Given the description of an element on the screen output the (x, y) to click on. 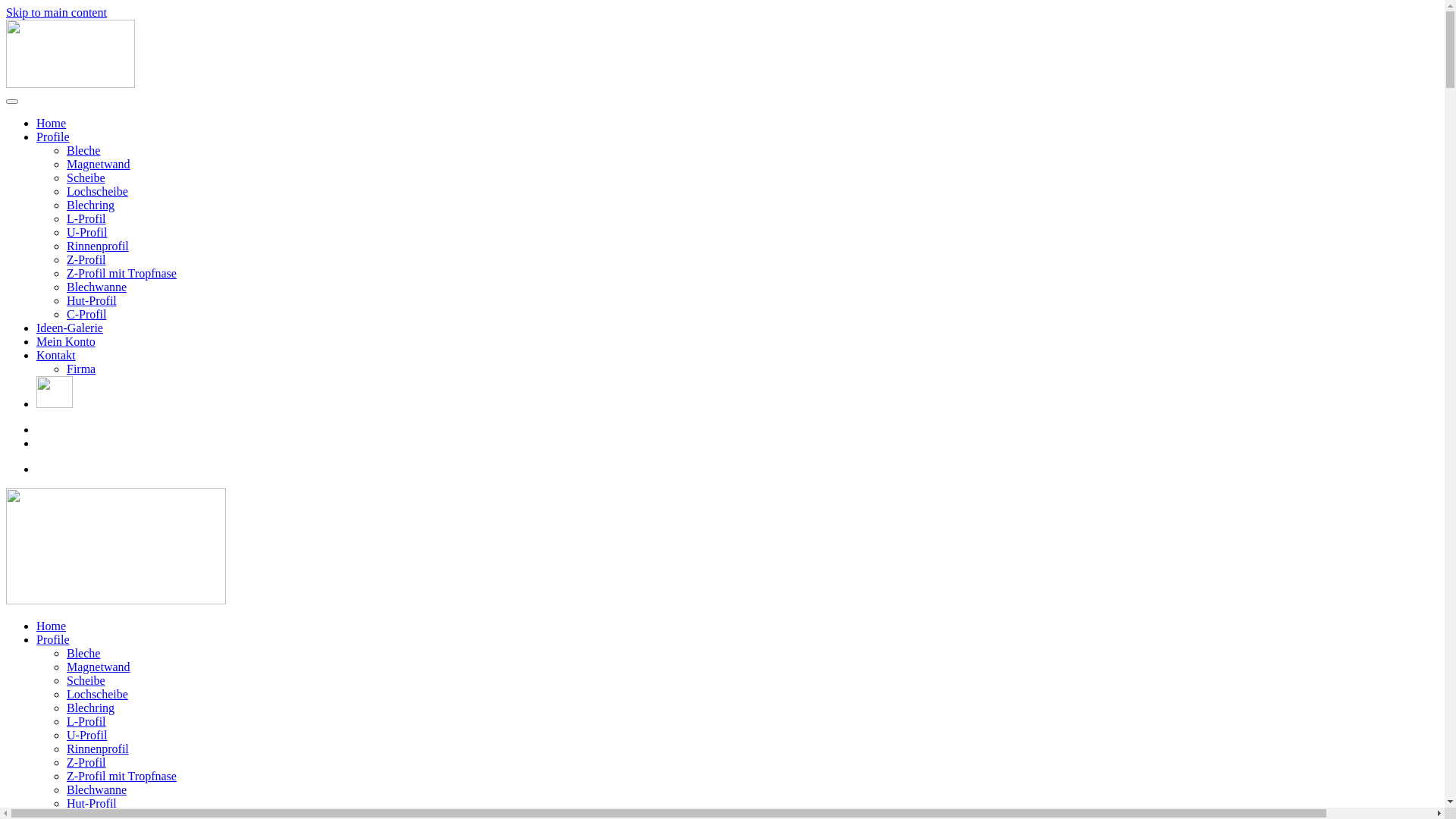
Magnetwand Element type: text (98, 163)
Hut-Profil Element type: text (91, 300)
L-Profil Element type: text (86, 218)
Firma Element type: text (80, 368)
C-Profil Element type: text (86, 313)
Blechring Element type: text (90, 707)
Home Element type: text (50, 122)
Rinnenprofil Element type: text (97, 748)
Z-Profil Element type: text (86, 259)
Ideen-Galerie Element type: text (69, 327)
Home Element type: text (50, 625)
L-Profil Element type: text (86, 721)
Lochscheibe Element type: text (97, 191)
Blechwanne Element type: text (96, 286)
Scheibe Element type: text (85, 177)
Hut-Profil Element type: text (91, 803)
Z-Profil Element type: text (86, 762)
Blechwanne Element type: text (96, 789)
Z-Profil mit Tropfnase Element type: text (121, 272)
Blechring Element type: text (90, 204)
Bleche Element type: text (83, 150)
Magnetwand Element type: text (98, 666)
Lochscheibe Element type: text (97, 693)
Scheibe Element type: text (85, 680)
U-Profil Element type: text (86, 734)
Profile Element type: text (52, 136)
Skip to main content Element type: text (56, 12)
Mein Konto Element type: text (65, 341)
Rinnenprofil Element type: text (97, 245)
Z-Profil mit Tropfnase Element type: text (121, 775)
Kontakt Element type: text (55, 354)
Bleche Element type: text (83, 652)
U-Profil Element type: text (86, 231)
Profile Element type: text (52, 639)
